Given the description of an element on the screen output the (x, y) to click on. 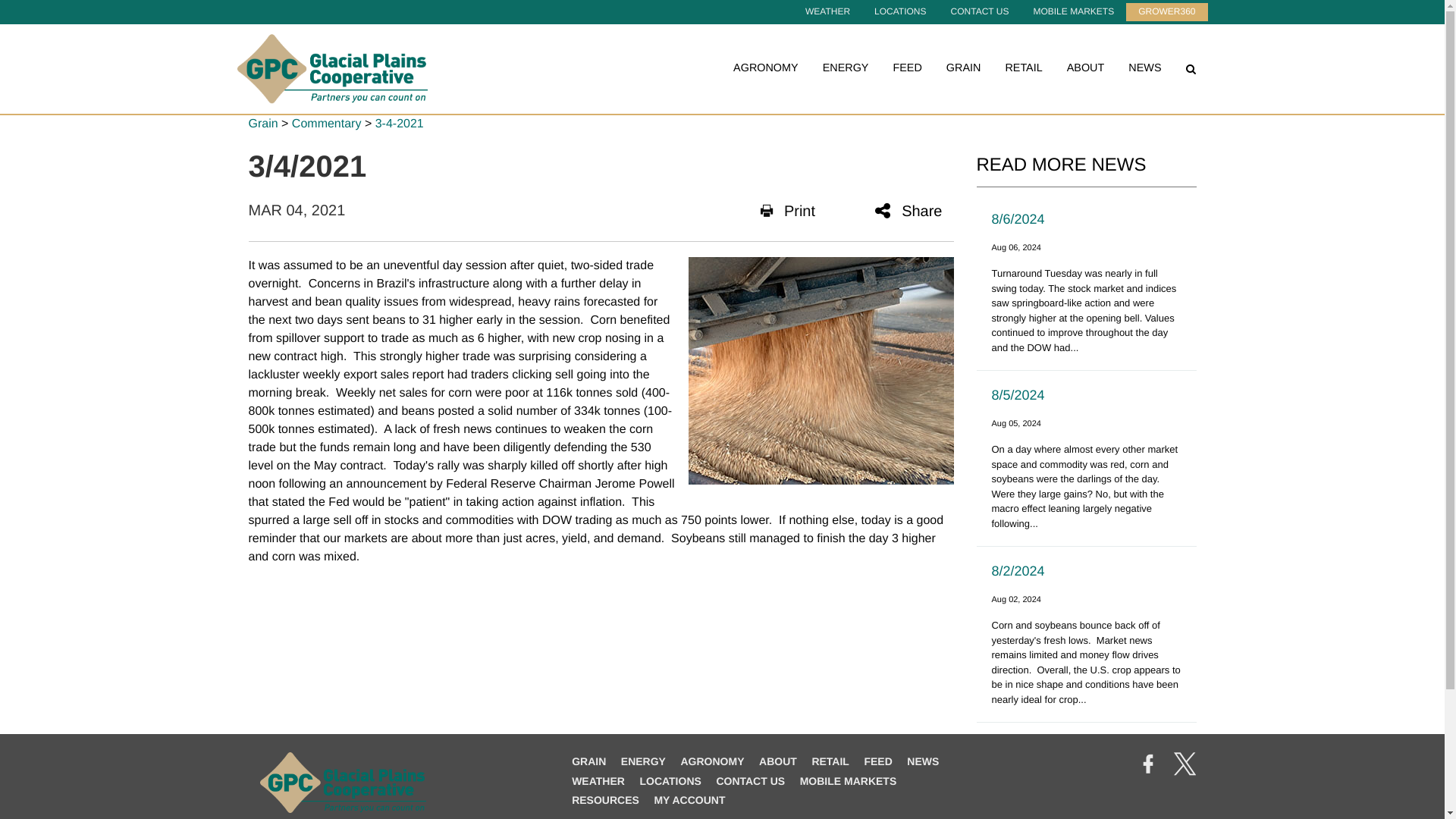
GRAIN (963, 67)
ABOUT (1086, 67)
AGRONOMY (765, 67)
retail (829, 761)
Glacial Plains Cooperative (330, 68)
locations (669, 780)
FEED (906, 67)
grain (588, 761)
RETAIL (1023, 67)
resources (605, 799)
